Given the description of an element on the screen output the (x, y) to click on. 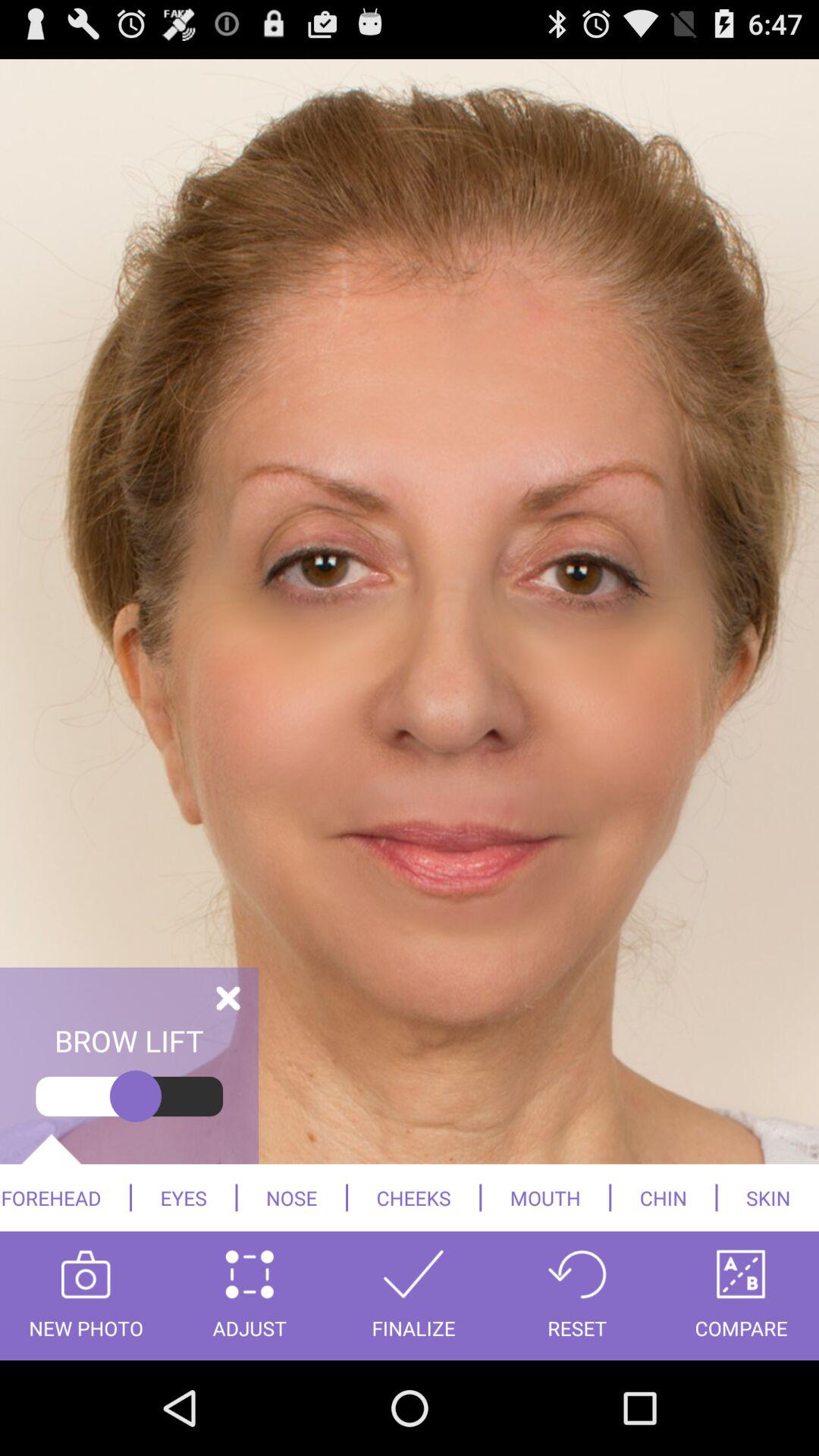
press eyes icon (183, 1197)
